Given the description of an element on the screen output the (x, y) to click on. 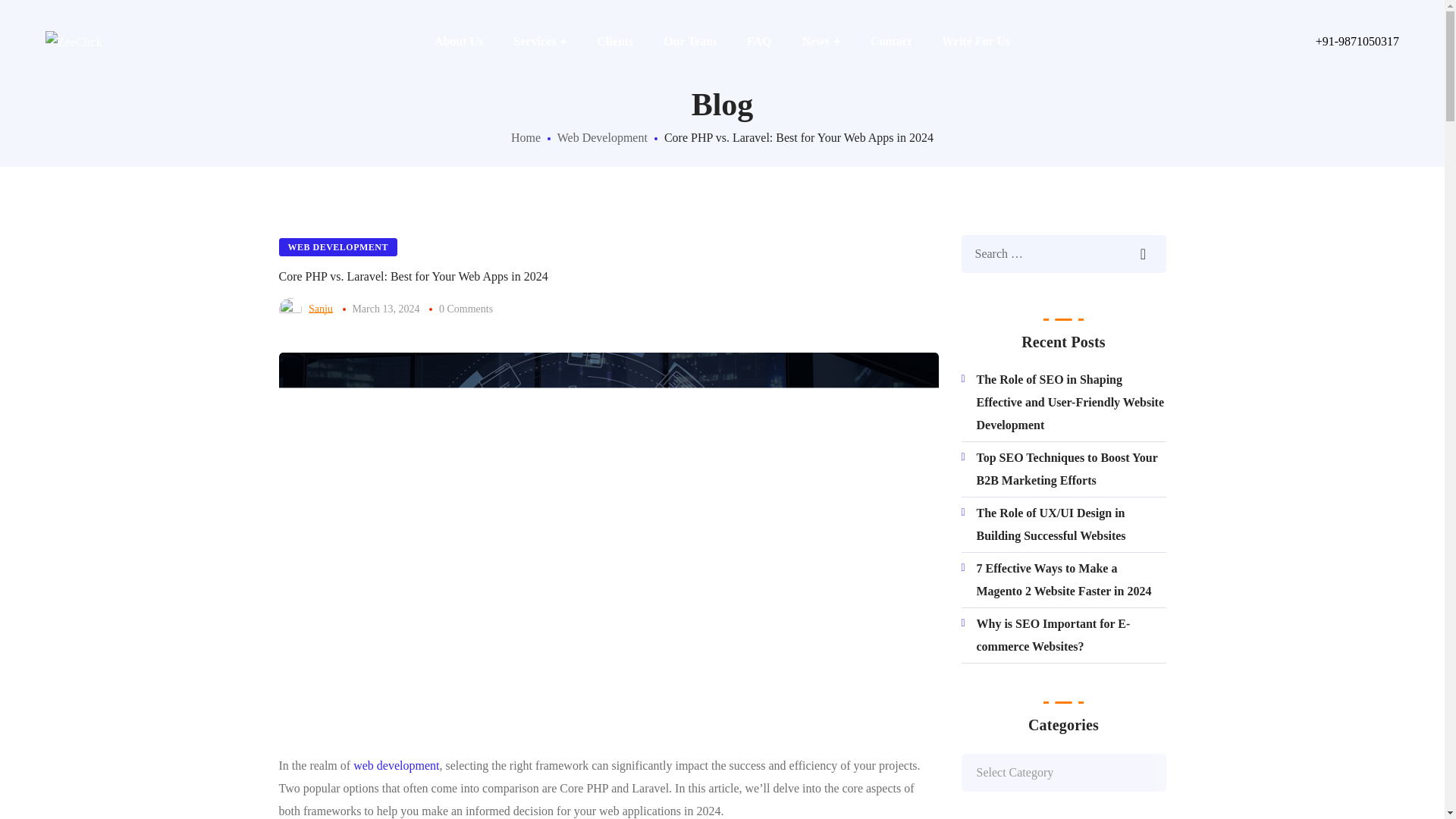
Contact (891, 41)
Write For Us (975, 41)
Clients (613, 41)
News (820, 41)
FAQ (759, 41)
Our Team (689, 41)
About Us (458, 41)
Services (538, 41)
